Given the description of an element on the screen output the (x, y) to click on. 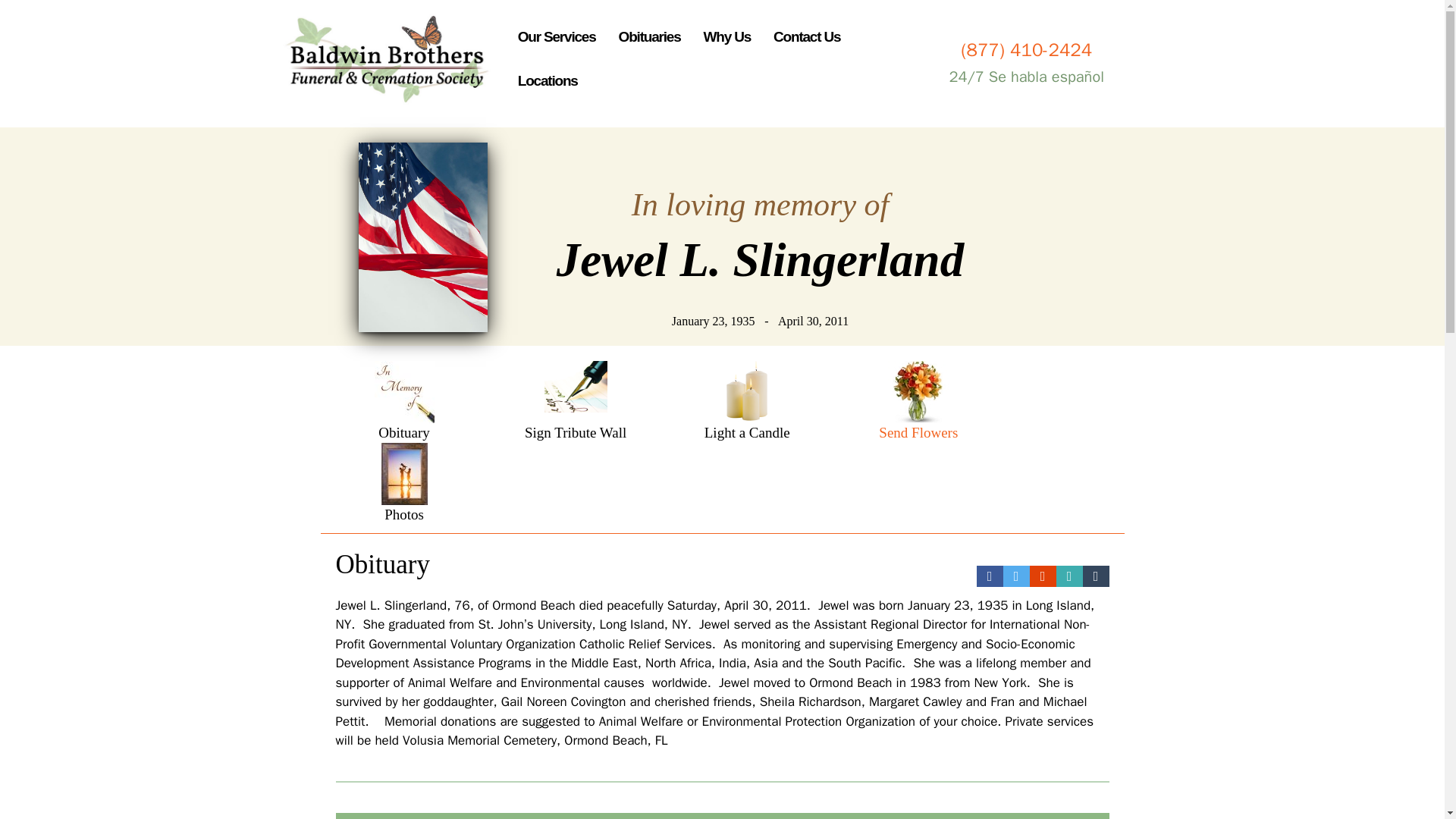
Obituaries (649, 37)
Our Services (557, 37)
Why Us (726, 37)
